Given the description of an element on the screen output the (x, y) to click on. 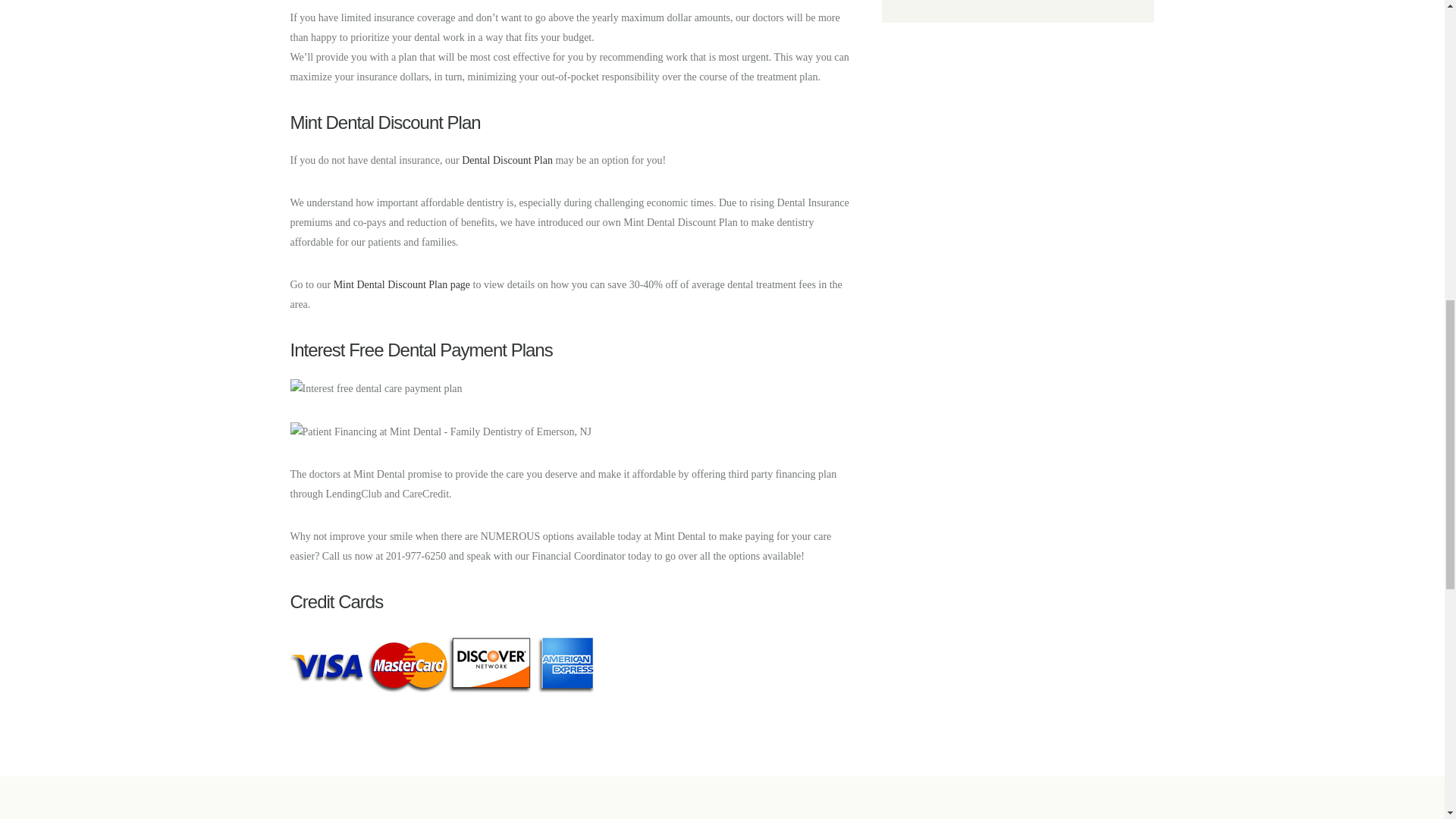
Dental Discount Plan (507, 160)
Mint Dental Discount Plan page (401, 284)
